Given the description of an element on the screen output the (x, y) to click on. 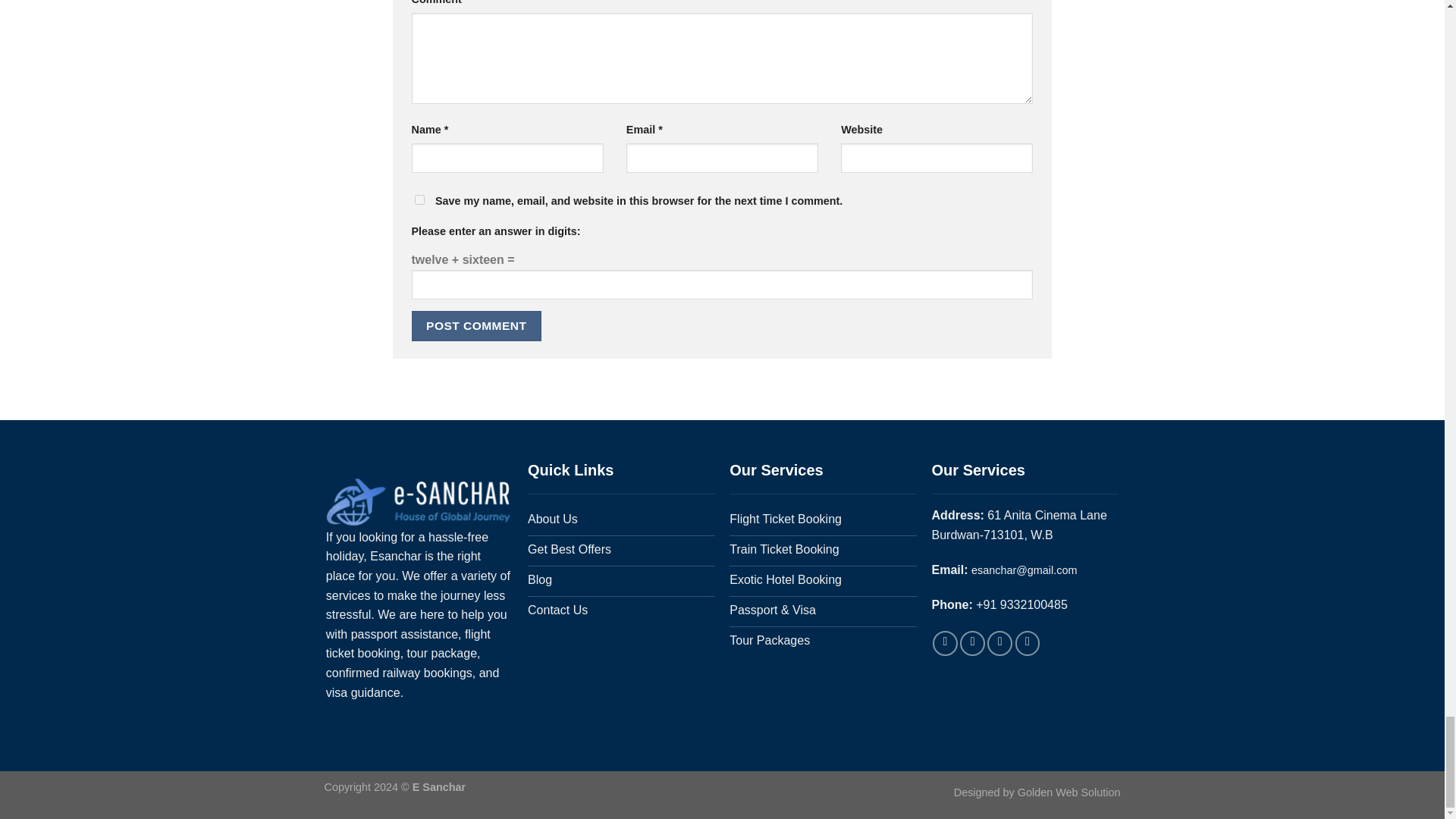
Send us an email (1026, 643)
Follow on Facebook (945, 643)
Follow on Twitter (999, 643)
Post Comment (475, 325)
yes (418, 199)
Follow on Instagram (972, 643)
